Given the description of an element on the screen output the (x, y) to click on. 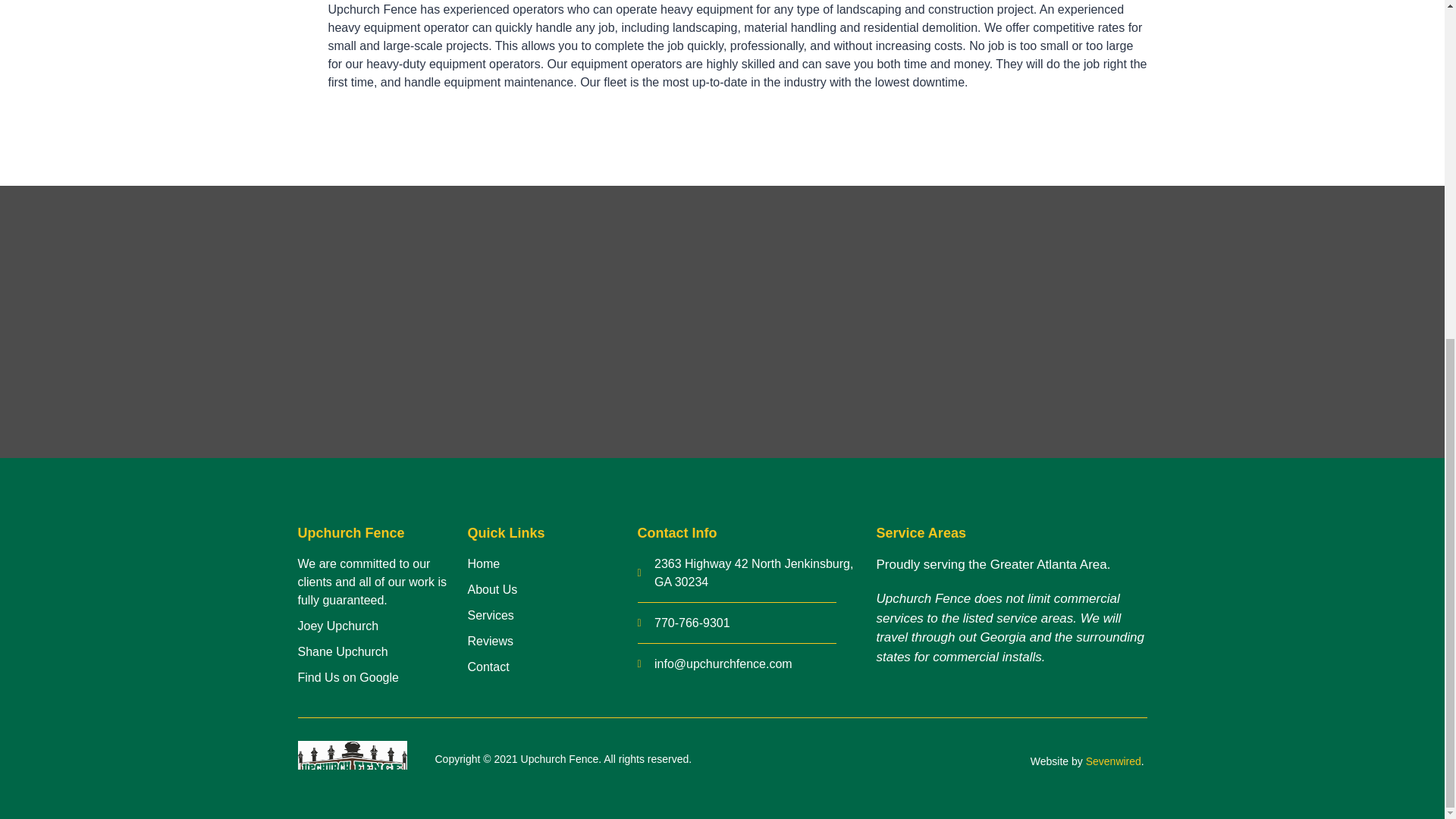
Find Us on Google (382, 678)
Home (552, 564)
Shane Upchurch (382, 651)
